Given the description of an element on the screen output the (x, y) to click on. 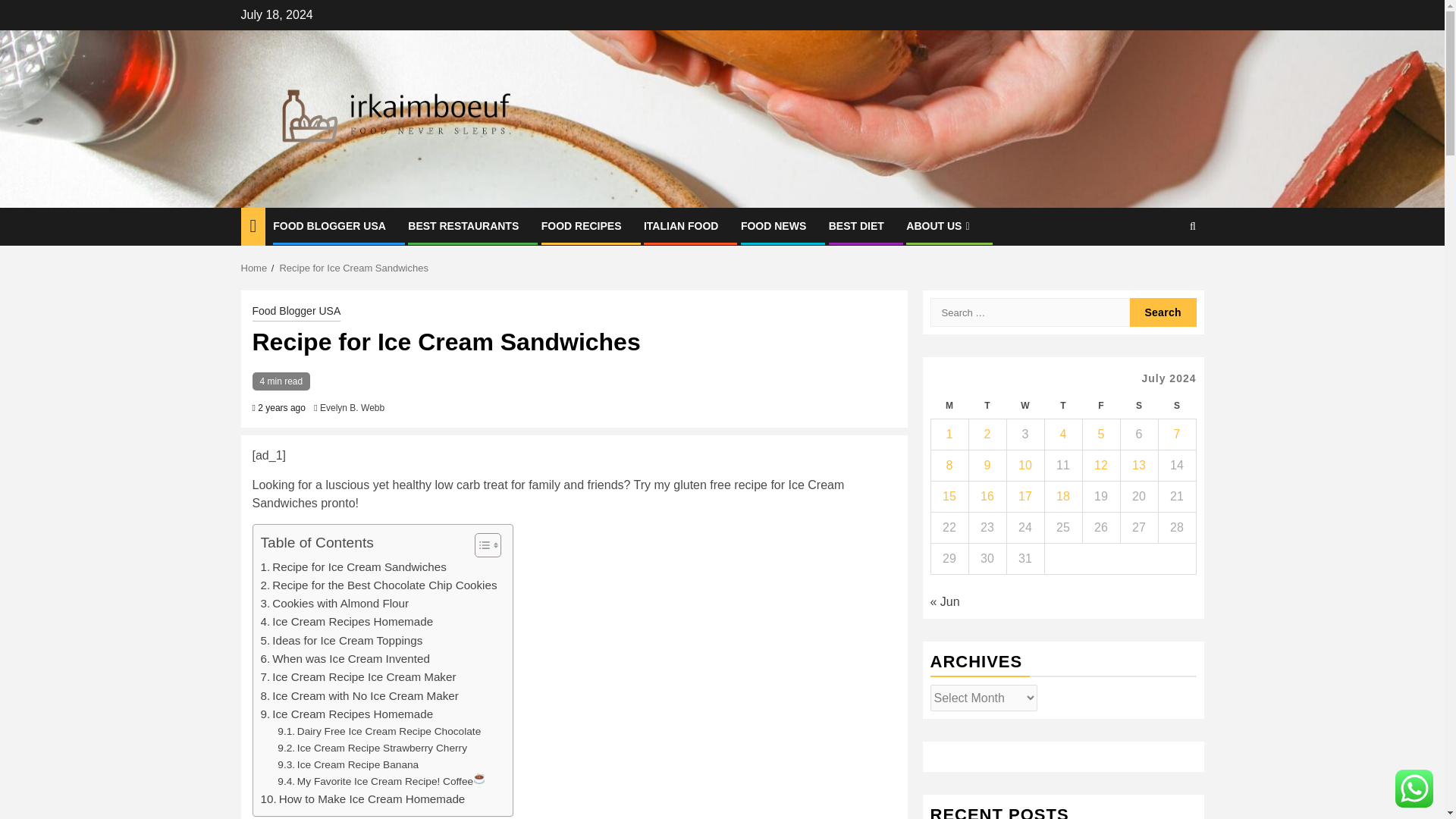
Food Blogger USA (295, 312)
FOOD RECIPES (581, 225)
Recipe for Ice Cream Sandwiches (353, 267)
Ice Cream Recipes Homemade (346, 714)
Ice Cream Recipes Homemade (346, 621)
BEST DIET (855, 225)
Ice Cream Recipe Ice Cream Maker (358, 677)
Cookies with Almond Flour (334, 603)
Ice Cream with No Ice Cream Maker (359, 696)
Ice Cream Recipes Homemade (346, 621)
When was Ice Cream Invented (344, 659)
Ice Cream Recipe Banana (348, 764)
My Favorite Ice Cream Recipe! Coffee (381, 781)
Search (1162, 312)
Ideas for Ice Cream Toppings (341, 640)
